Given the description of an element on the screen output the (x, y) to click on. 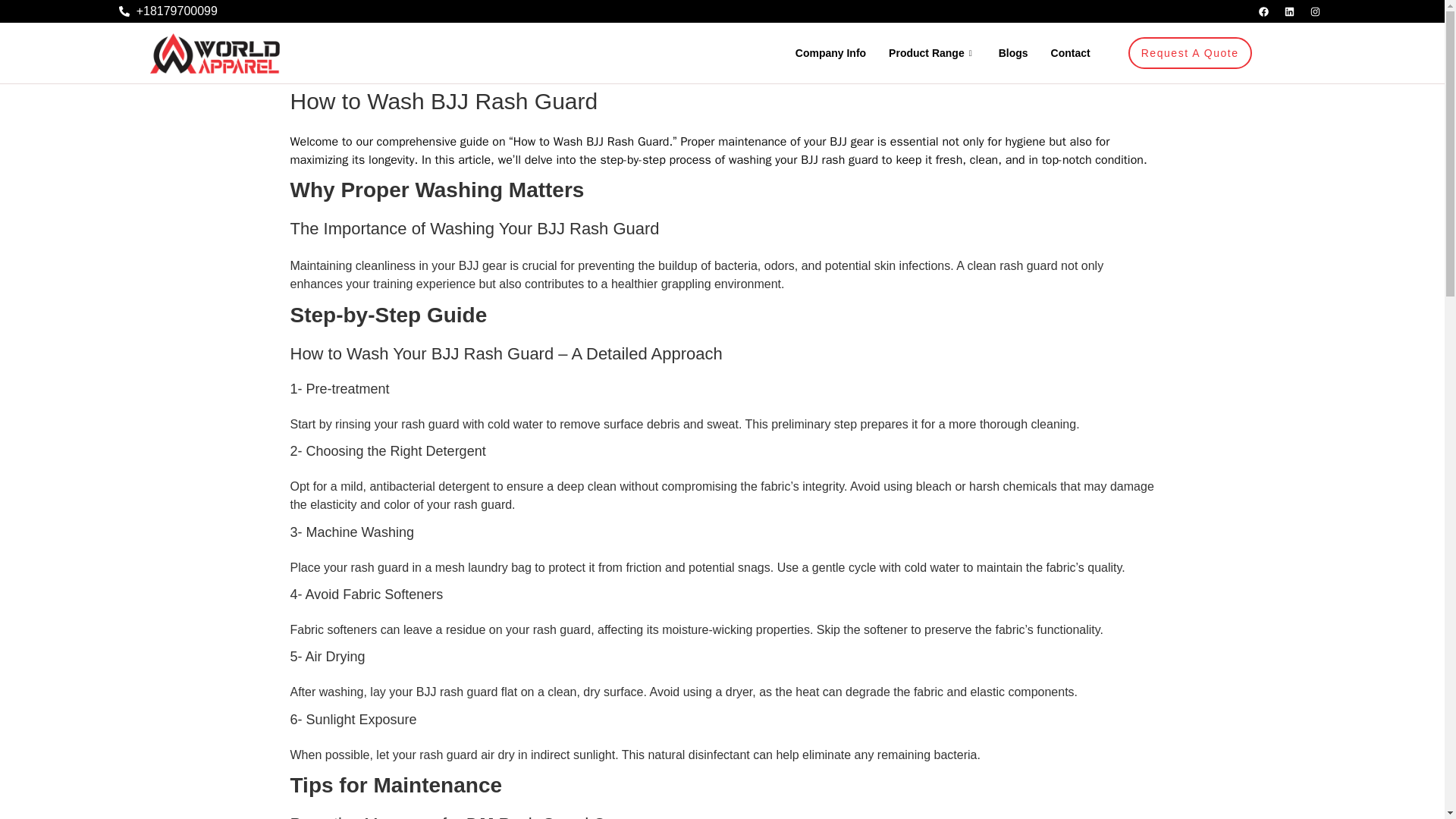
Company Info (830, 53)
Product Range (932, 53)
